Given the description of an element on the screen output the (x, y) to click on. 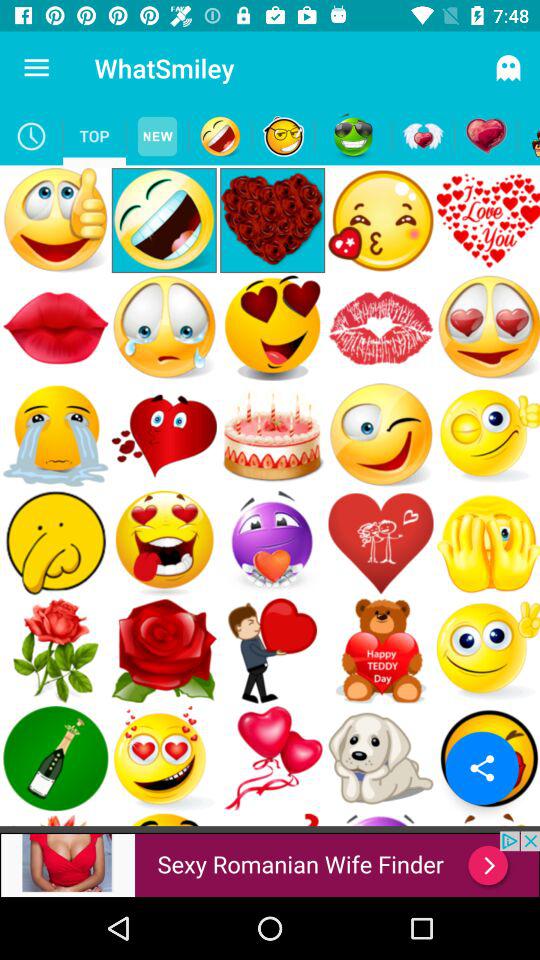
go to new emojis page (157, 136)
